Given the description of an element on the screen output the (x, y) to click on. 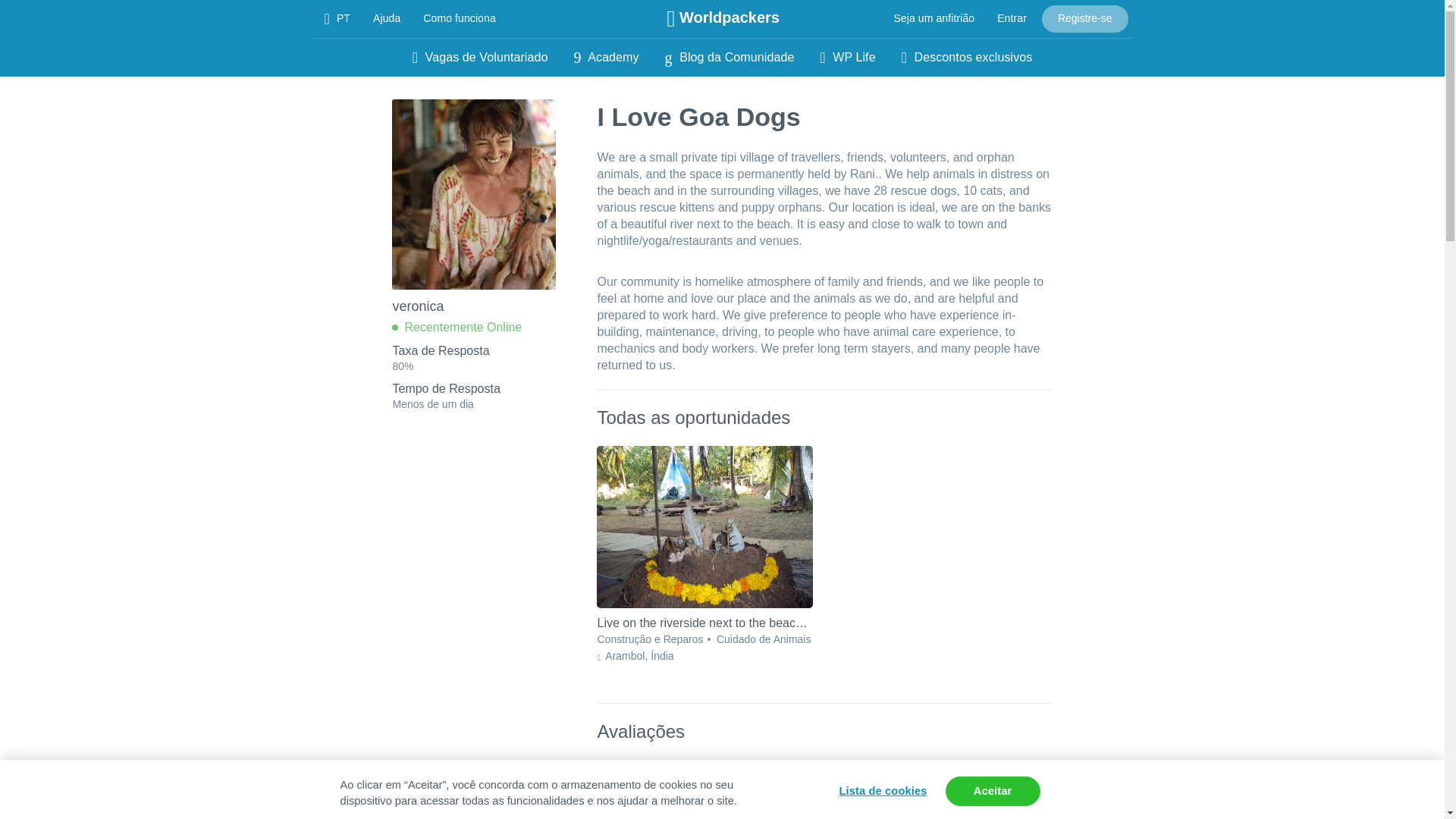
Vagas de Voluntariado (480, 57)
Registre-se (1085, 18)
Entrar (1011, 18)
PT (337, 18)
Worldpackers (723, 18)
Ajuda (386, 18)
Como funciona (459, 18)
